Given the description of an element on the screen output the (x, y) to click on. 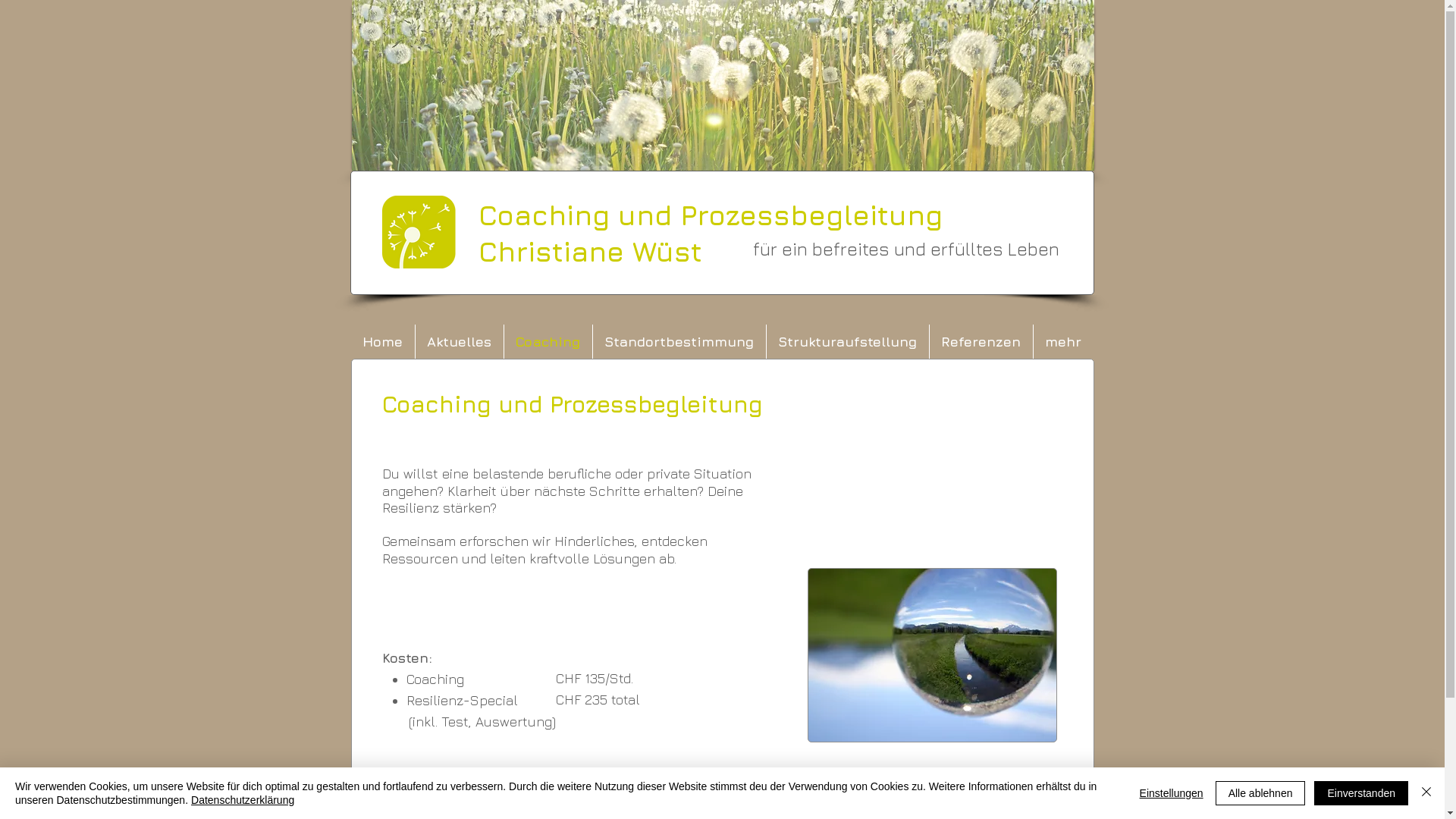
Alle ablehnen Element type: text (1260, 793)
kontakt@coaching-prozessbegleitung.ch Element type: text (652, 802)
Strukturaufstellung Element type: text (846, 341)
www.foto-emotion.ch Element type: hover (931, 654)
epp beratung gmbh Element type: text (1008, 802)
Aktuelles Element type: text (459, 341)
Standortbestimmung Element type: text (679, 341)
Referenzen Element type: text (980, 341)
Home Element type: text (382, 341)
Einverstanden Element type: text (1361, 793)
Coaching Element type: text (547, 341)
